Given the description of an element on the screen output the (x, y) to click on. 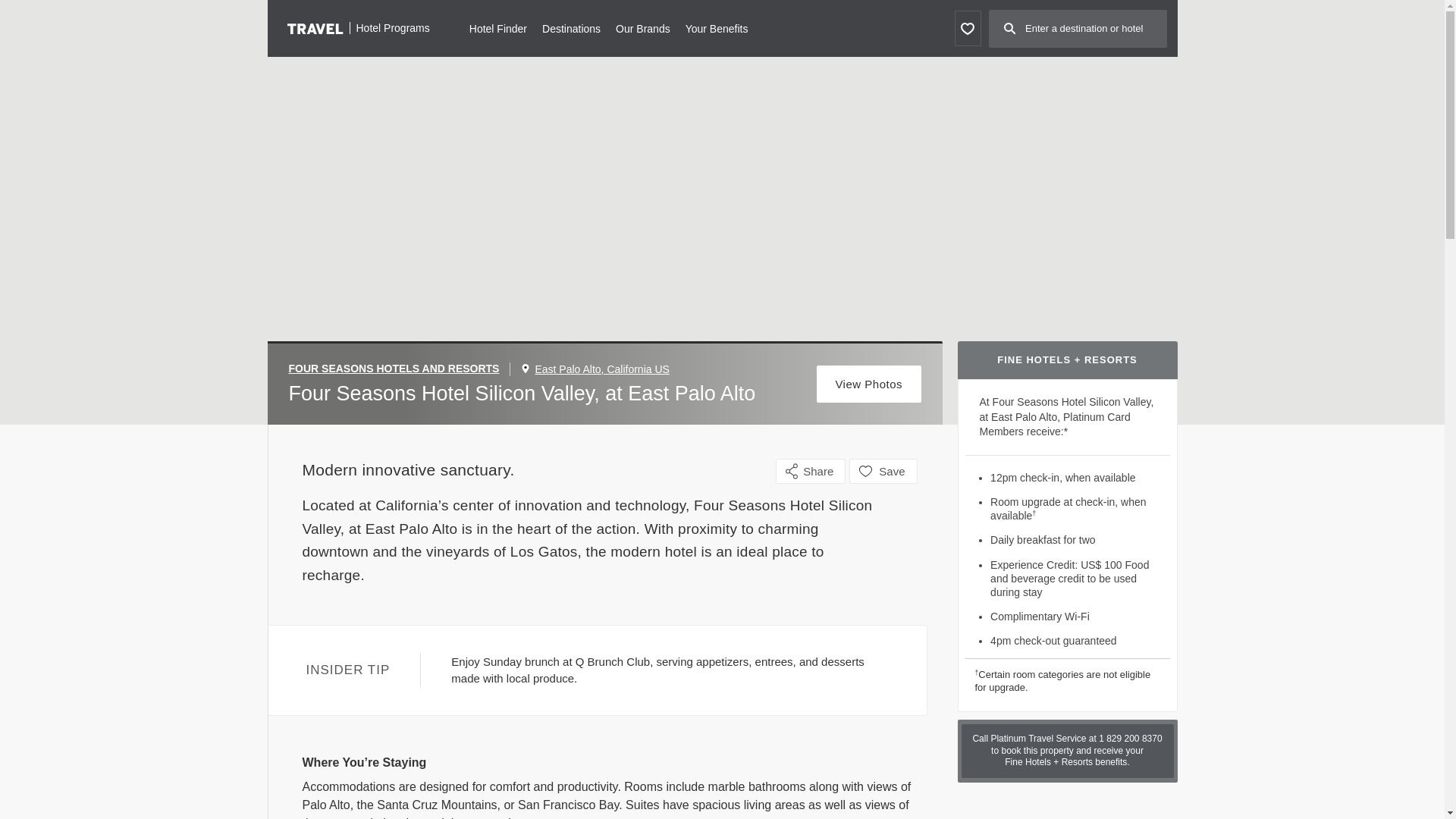
View Photos (868, 383)
Your Benefits (716, 27)
FOUR SEASONS HOTELS AND RESORTS (399, 368)
Hotel Programs (357, 27)
Hotel Finder (497, 27)
Save (882, 471)
Share (810, 471)
Our Brands (642, 27)
Destinations (570, 27)
East Palo Alto, California US (601, 369)
